Given the description of an element on the screen output the (x, y) to click on. 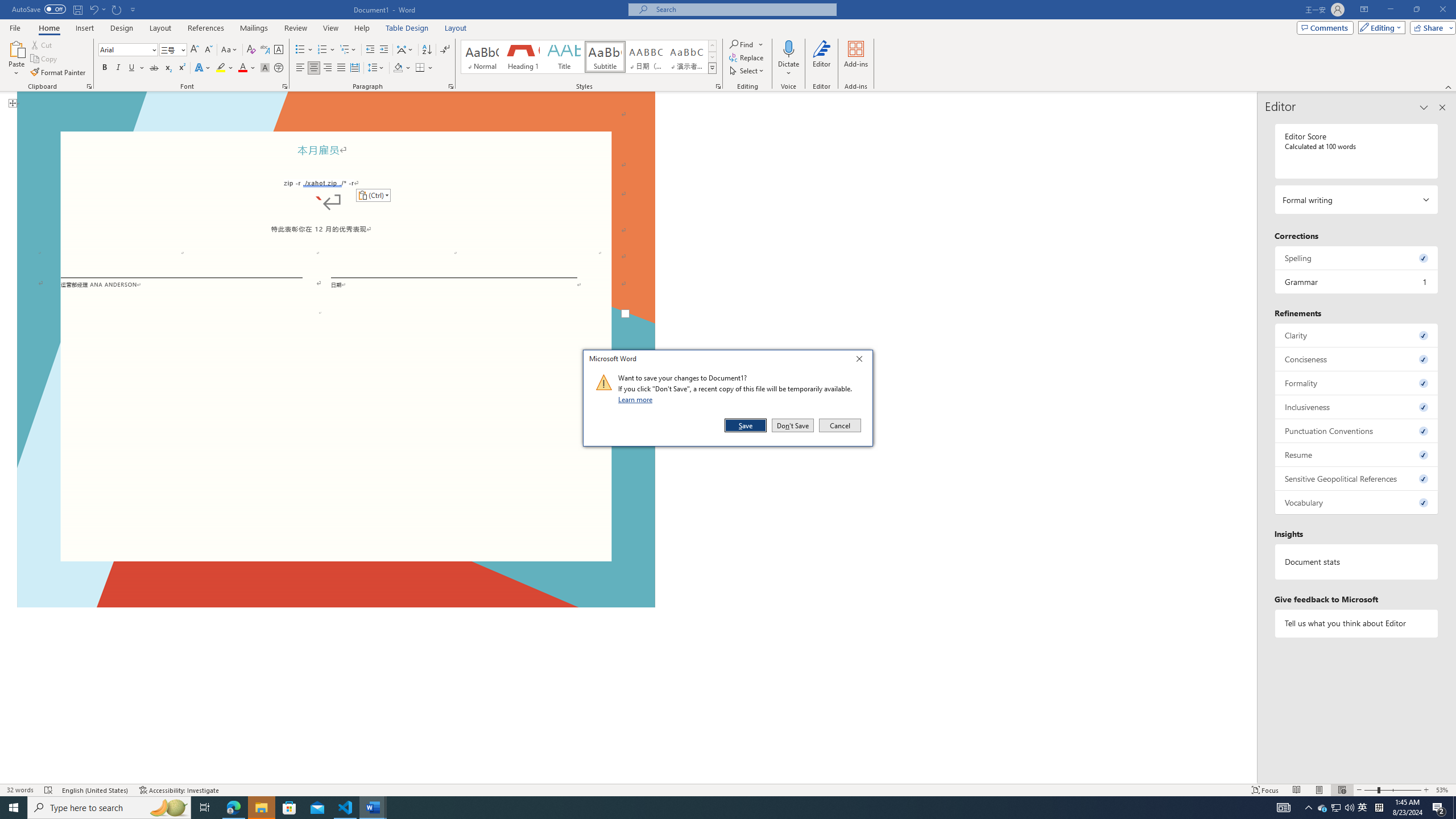
Character Shading (264, 67)
Open (182, 49)
Enclose Characters... (278, 67)
Replace... (747, 56)
Repeat Doc Close (117, 9)
Tray Input Indicator - Chinese (Simplified, China) (1378, 807)
Office Clipboard... (88, 85)
File Explorer - 1 running window (261, 807)
Justify (340, 67)
Share (1430, 27)
Select (1322, 807)
Restore Down (747, 69)
Numbering (1416, 9)
